Given the description of an element on the screen output the (x, y) to click on. 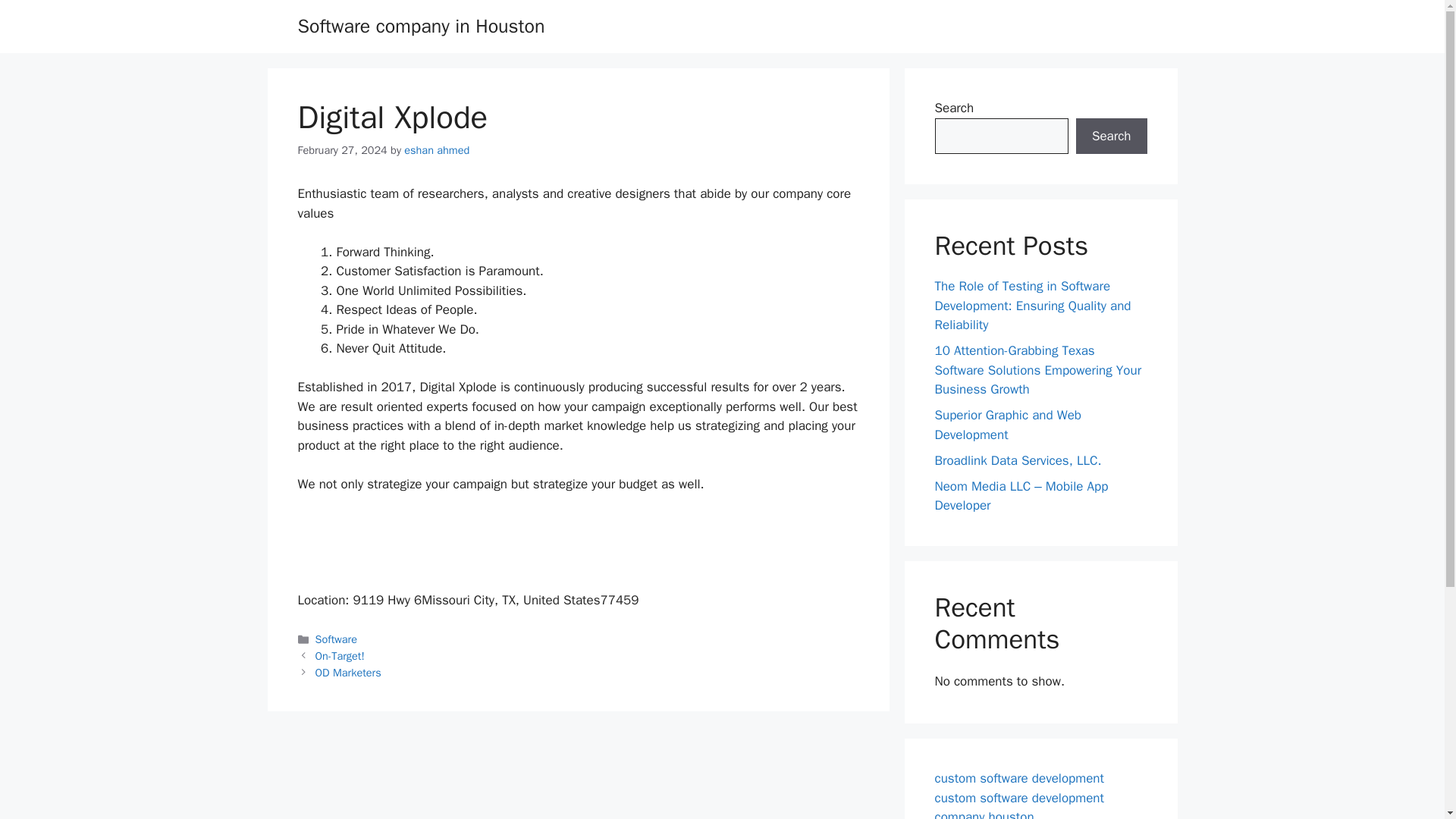
Software company in Houston (420, 25)
Search (1111, 135)
On-Target! (340, 655)
OD Marketers (348, 672)
Software (335, 639)
Broadlink Data Services, LLC. (1017, 459)
custom software development (1018, 778)
View all posts by eshan ahmed (436, 150)
eshan ahmed (436, 150)
Superior Graphic and Web Development (1007, 425)
custom software development company houston (1018, 804)
